Given the description of an element on the screen output the (x, y) to click on. 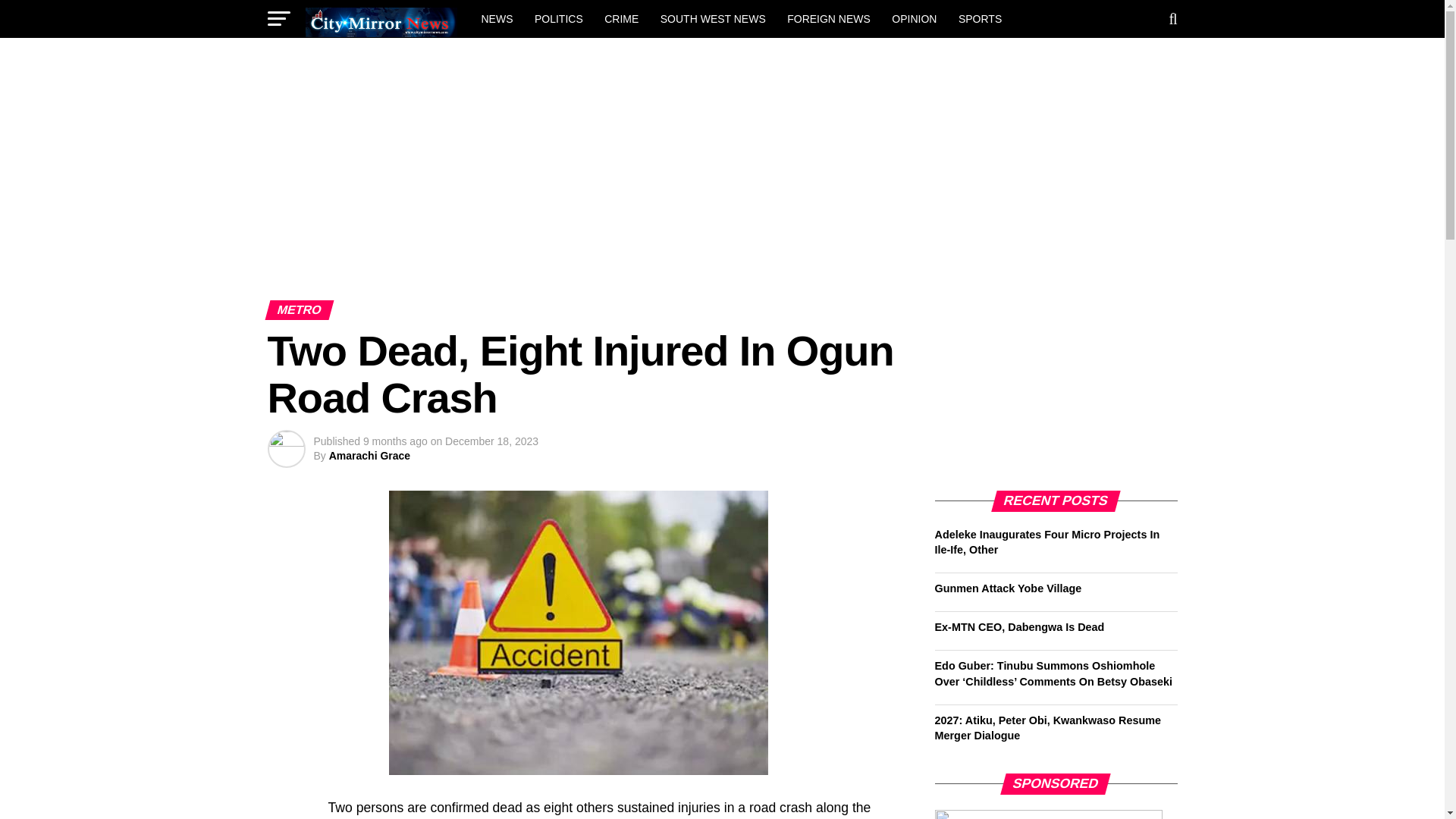
SOUTH WEST NEWS (712, 18)
Sponsored (1047, 814)
FOREIGN NEWS (828, 18)
2027: Atiku, Peter Obi, Kwankwaso Resume Merger Dialogue (1047, 728)
POLITICS (558, 18)
Adeleke Inaugurates Four Micro Projects In Ile-Ife, Other (1046, 542)
Gunmen Attack Yobe Village (1007, 588)
Posts by Amarachi Grace (369, 455)
Ex-MTN CEO, Dabengwa Is Dead (1018, 626)
CRIME (621, 18)
